Given the description of an element on the screen output the (x, y) to click on. 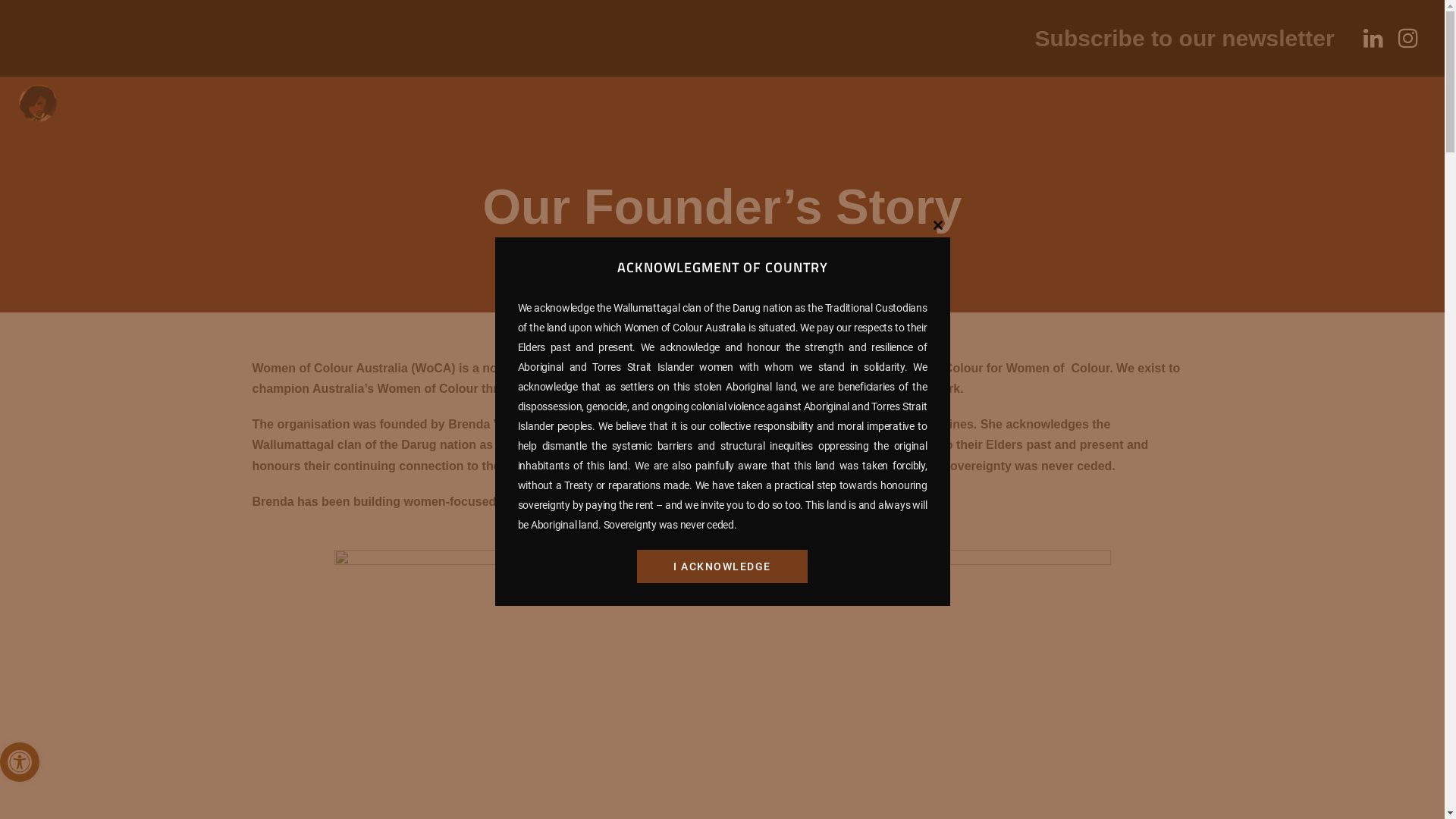
CONTACT Element type: text (759, 112)
Open toolbar
Accessibility Tools Element type: text (19, 761)
linkedin Element type: hover (1373, 37)
MEDIA Element type: text (691, 112)
COMMUNITY SUPPORT Element type: text (388, 112)
Subscribe to our newsletter Element type: text (1184, 37)
SPEAK Element type: text (997, 112)
PROGRAMS Element type: text (256, 112)
HOME Element type: text (122, 112)
I ACKNOWLEDGE Element type: text (722, 566)
Close this module Element type: text (937, 225)
instagram Element type: hover (1408, 37)
DONATE Element type: text (932, 112)
ABOUT Element type: text (179, 112)
RESEARCH & ADVOCACY Element type: text (568, 112)
WOC-Logo-Trans-1000x1000px Element type: hover (37, 103)
VOLUNTEER Element type: text (848, 112)
